Given the description of an element on the screen output the (x, y) to click on. 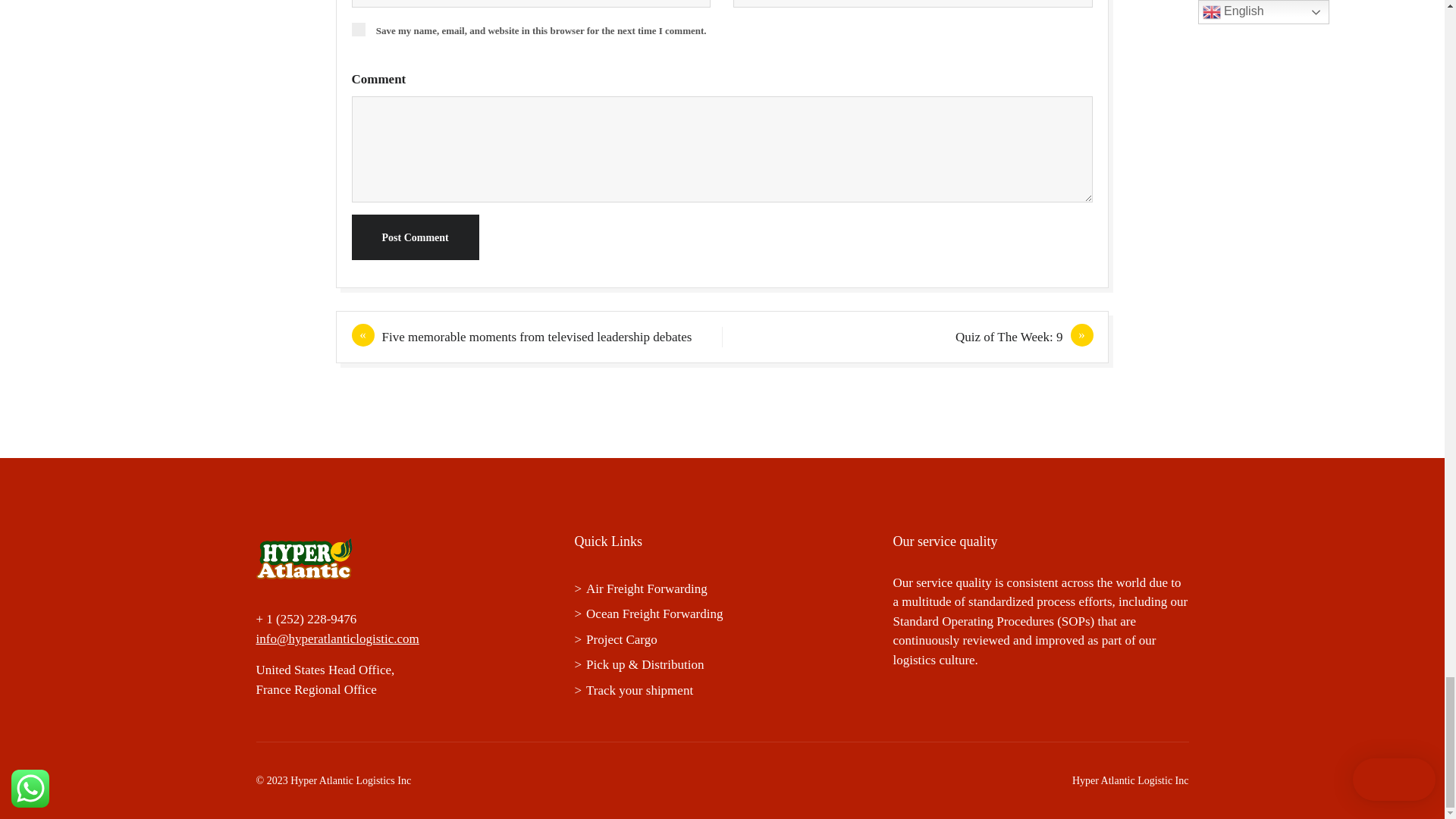
yes (358, 29)
